Given the description of an element on the screen output the (x, y) to click on. 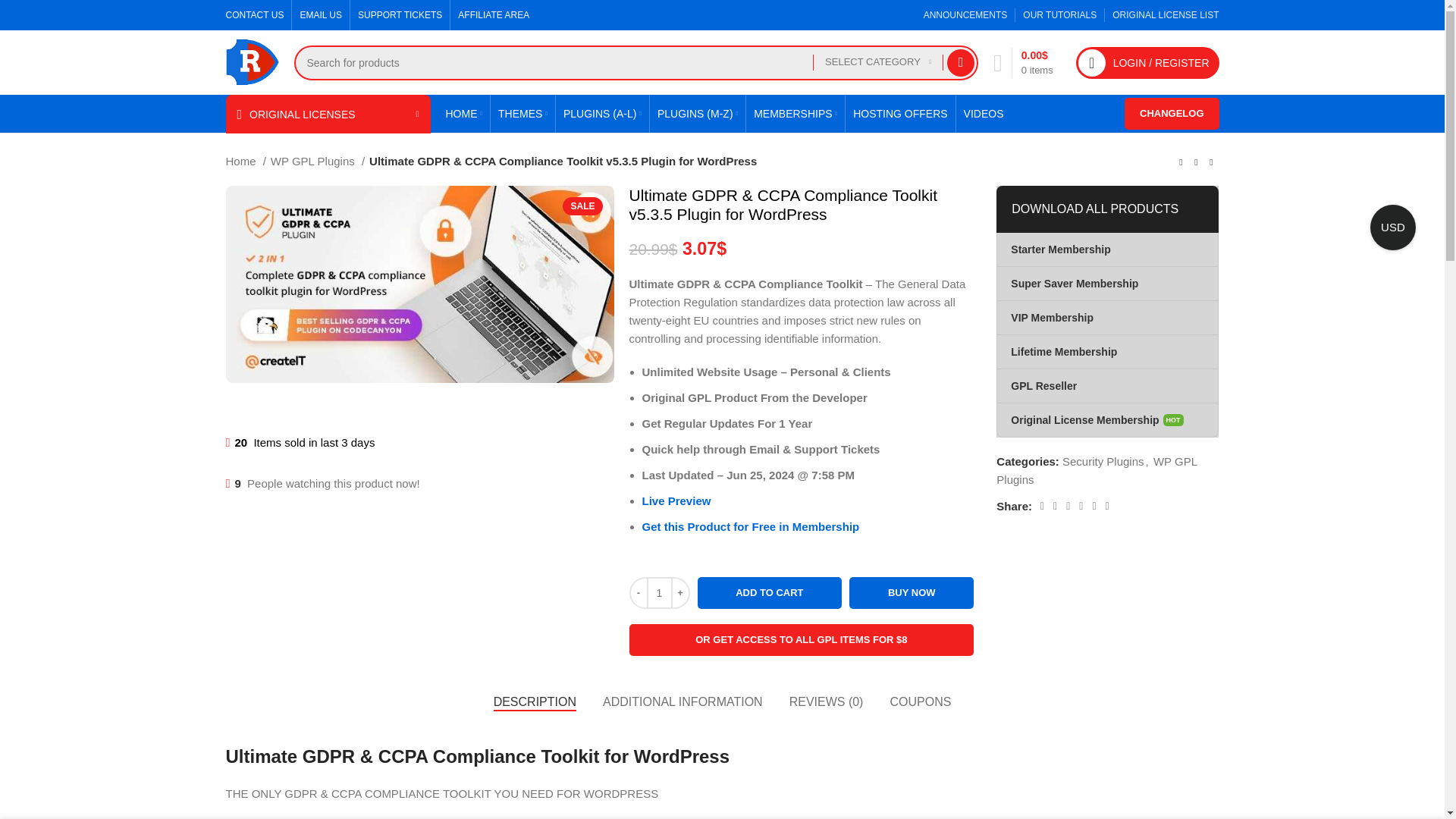
SELECT CATEGORY (877, 62)
ORIGINAL LICENSE LIST (1165, 14)
SELECT CATEGORY (877, 62)
SUPPORT TICKETS (400, 15)
OUR TUTORIALS (1059, 14)
Search for products (636, 62)
ANNOUNCEMENTS (965, 14)
AFFILIATE AREA (493, 15)
EMAIL US (320, 15)
My account (1147, 61)
Shopping cart (1023, 61)
CONTACT US (254, 15)
